Given the description of an element on the screen output the (x, y) to click on. 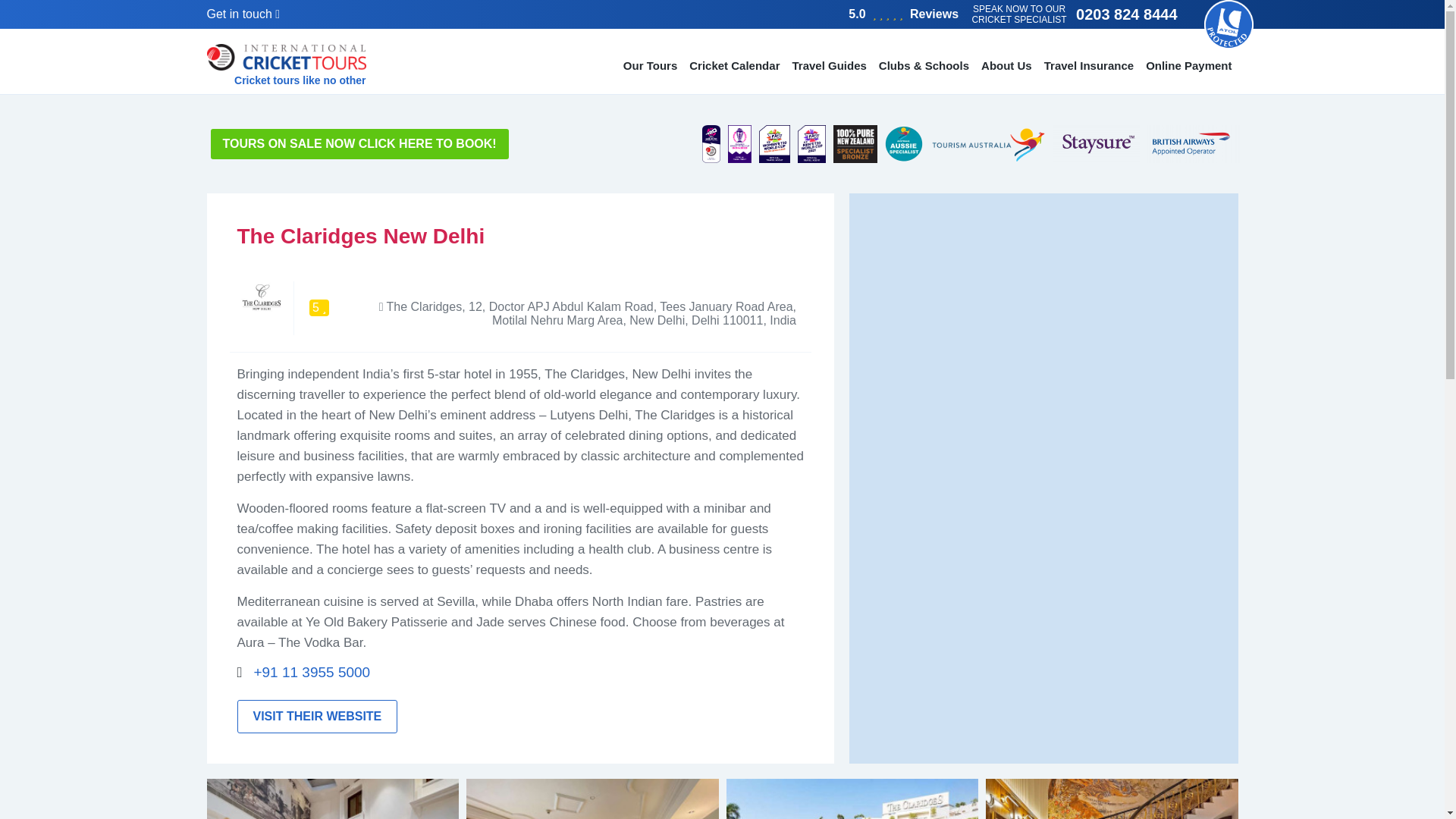
International Cricket Tours (285, 65)
